Given the description of an element on the screen output the (x, y) to click on. 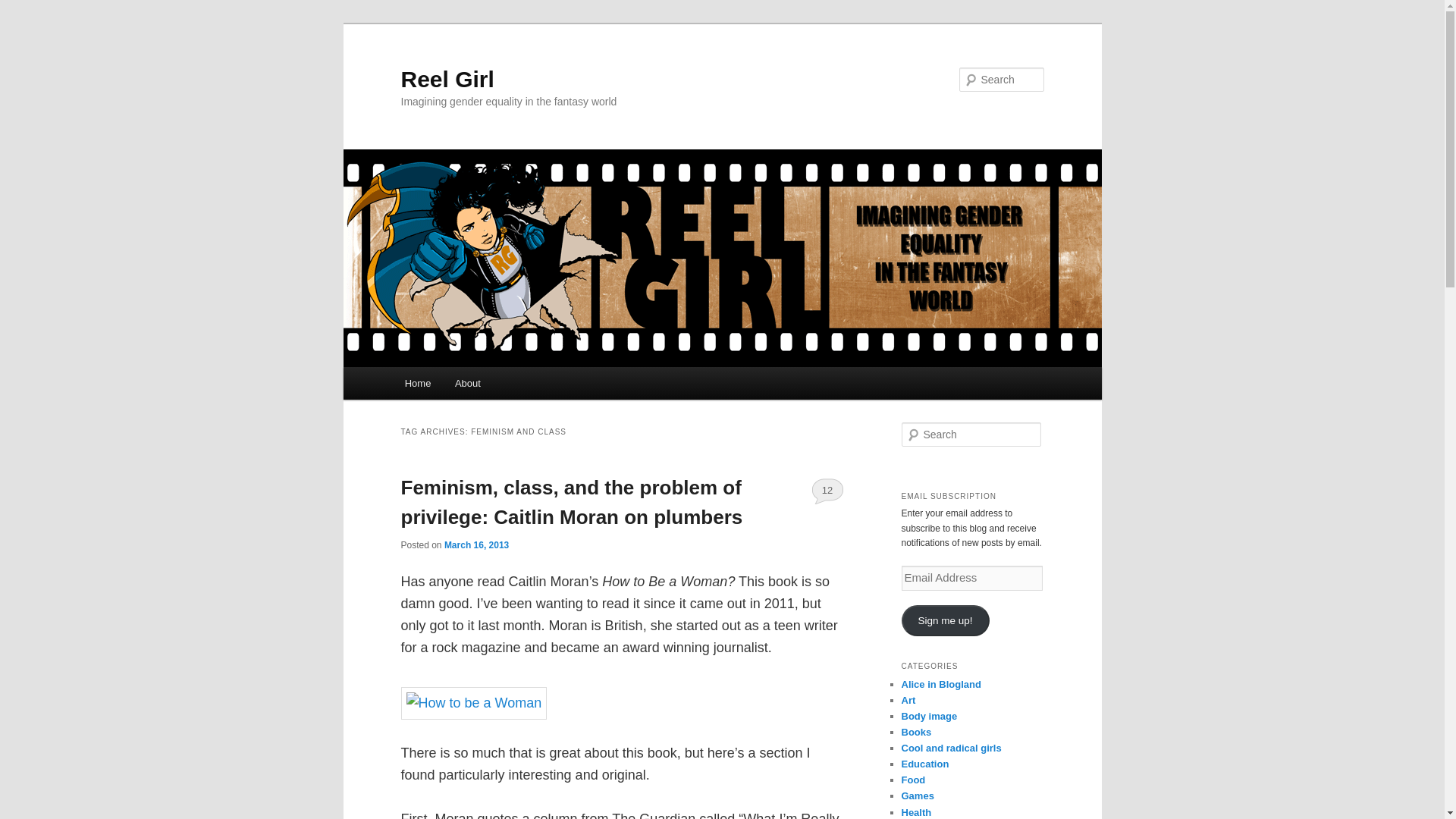
Body image (928, 715)
Education (925, 763)
Art (908, 699)
Sign me up! (944, 620)
Search (24, 8)
Food (912, 779)
Home (417, 382)
About (467, 382)
Health (916, 812)
Cool and radical girls (951, 747)
March 16, 2013 (476, 544)
Reel Girl (446, 78)
Games (917, 795)
10:53 am (476, 544)
